Given the description of an element on the screen output the (x, y) to click on. 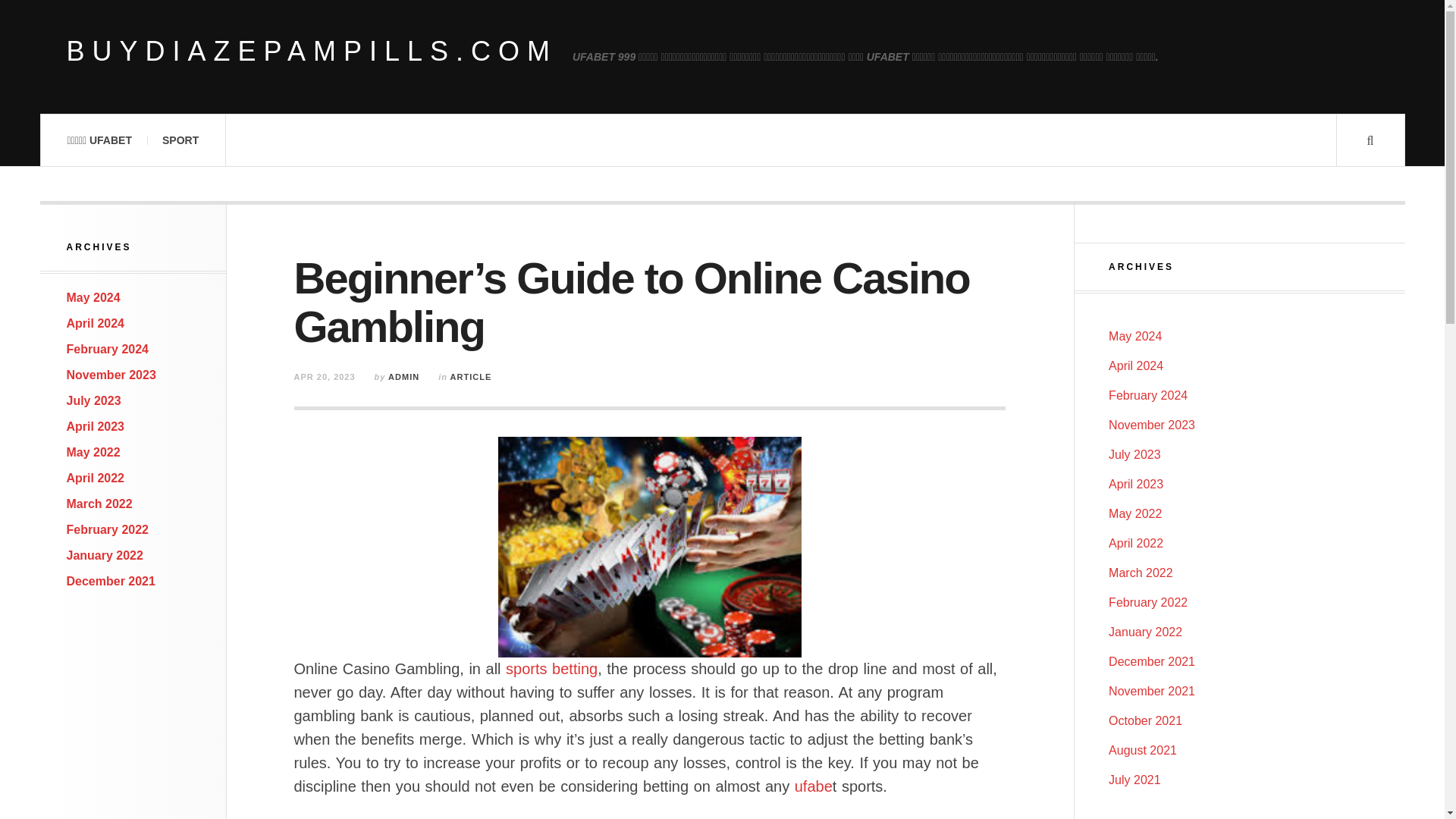
BUYDIAZEPAMPILLS.COM (311, 51)
sports betting (550, 668)
May 2022 (1134, 513)
April 2023 (94, 426)
May 2022 (93, 451)
March 2022 (1140, 572)
ADMIN (403, 376)
ufabe (813, 786)
April 2024 (94, 323)
ARTICLE (470, 376)
February 2022 (107, 529)
July 2023 (93, 400)
May 2024 (1134, 336)
December 2021 (110, 581)
April 2023 (1135, 483)
